Given the description of an element on the screen output the (x, y) to click on. 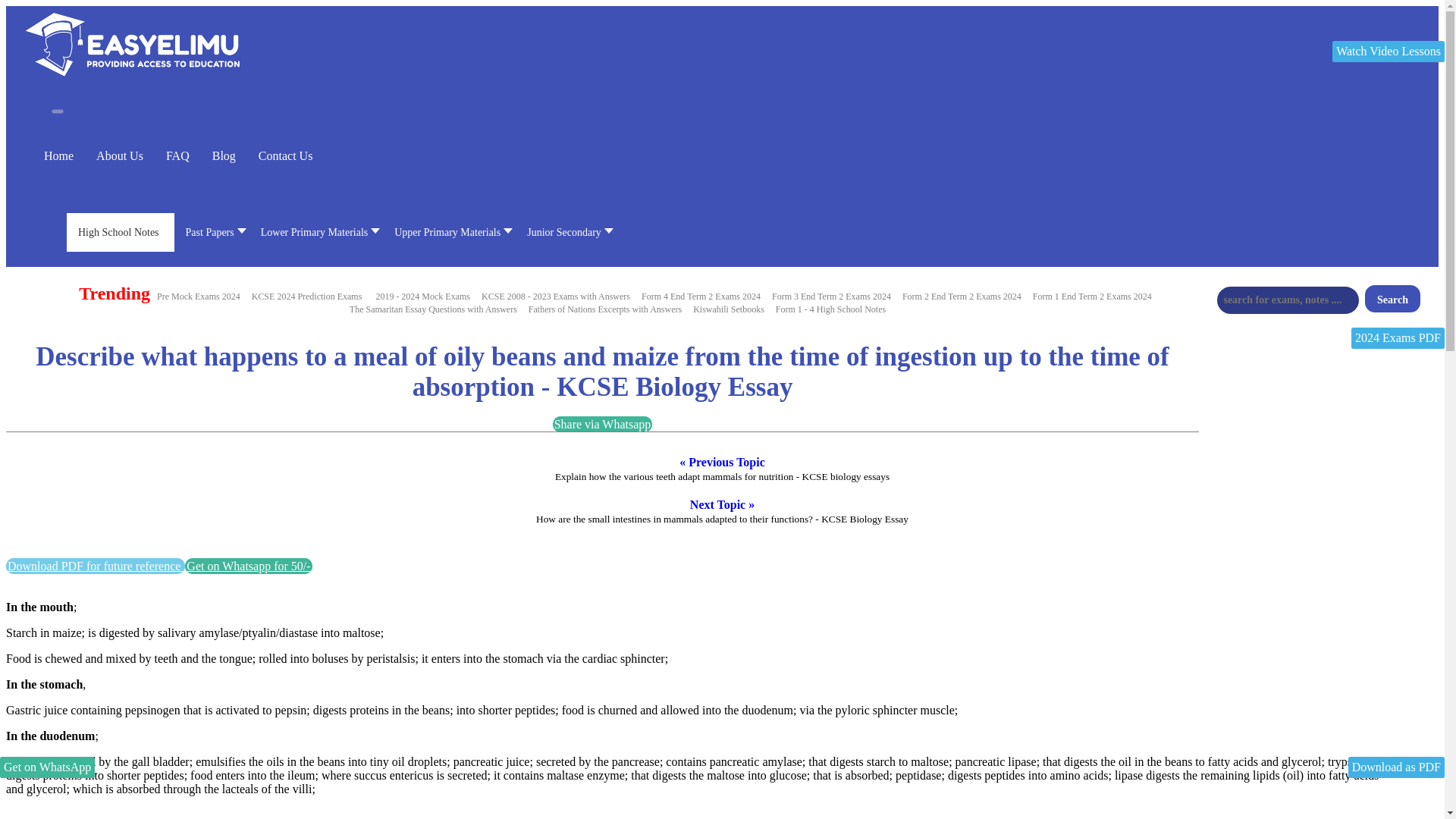
About Us (119, 155)
Blog (223, 155)
FAQ (177, 155)
2024 KCSE Prediction Exams with Marking Schemes (306, 296)
The Samaritan Essays (433, 309)
Contact Us (286, 155)
Home (58, 155)
KCSE Past Exams (555, 296)
